Given the description of an element on the screen output the (x, y) to click on. 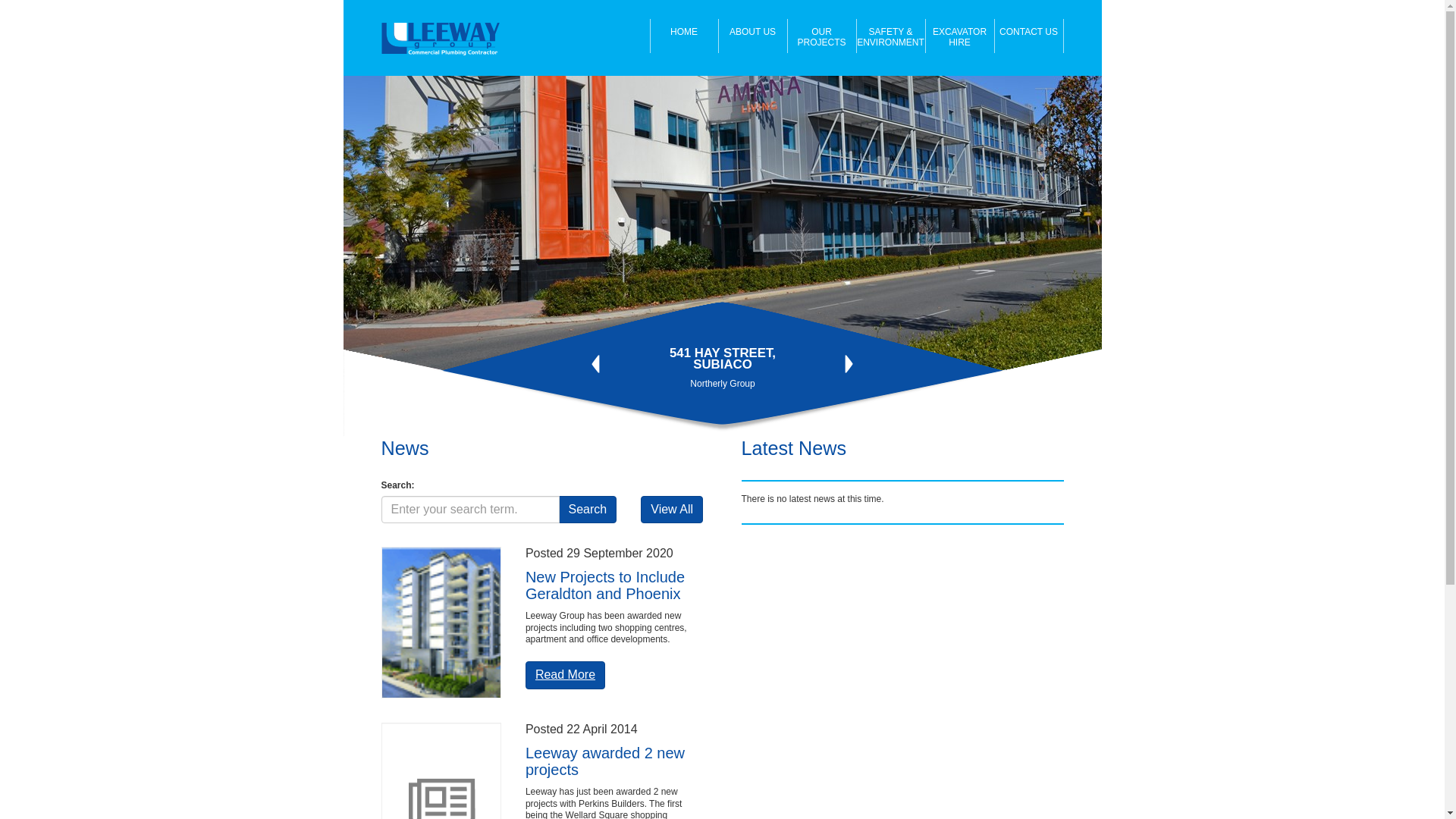
CONTACT US Element type: text (1028, 35)
Leeway Group Plumbing home page Element type: hover (445, 38)
Previous project Element type: hover (595, 363)
HOME Element type: text (683, 35)
Search Items Element type: hover (587, 509)
EXCAVATOR HIRE Element type: text (959, 35)
Next project Element type: hover (848, 363)
Enter your search term. Element type: hover (469, 509)
View All Items Element type: hover (671, 509)
View All Element type: text (671, 509)
SAFETY & ENVIRONMENT Element type: text (890, 35)
Search Element type: text (587, 509)
Read More Element type: text (565, 675)
ABOUT US Element type: text (752, 35)
OUR PROJECTS Element type: text (821, 35)
